Given the description of an element on the screen output the (x, y) to click on. 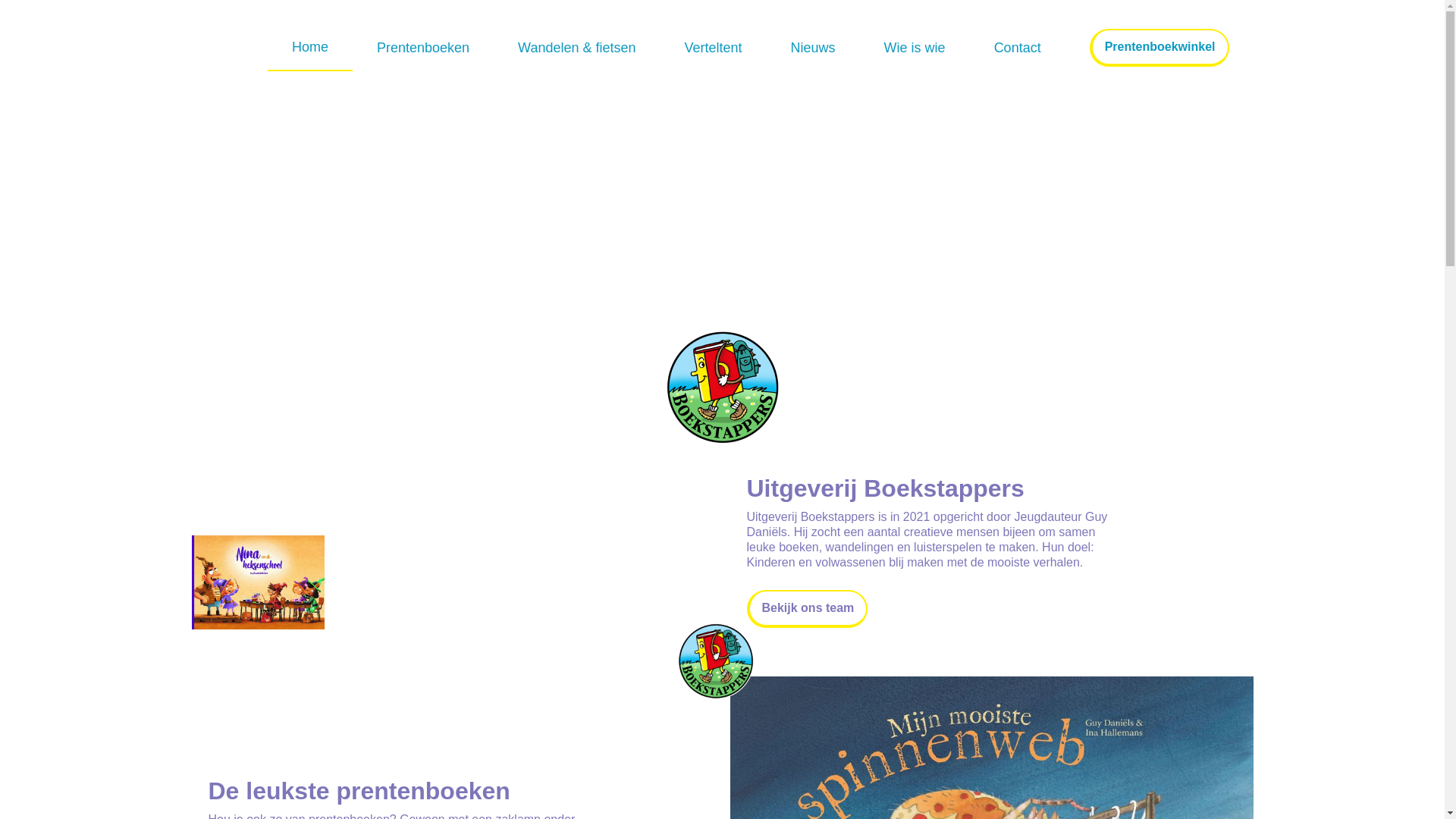
Nieuws Element type: text (812, 47)
Bekijk ons team Element type: text (806, 608)
Prentenboeken Element type: text (422, 47)
Home Element type: text (309, 47)
Contact Element type: text (1017, 47)
Verteltent Element type: text (713, 47)
Wie is wie Element type: text (914, 47)
Prentenboekwinkel Element type: text (1159, 47)
Wandelen & fietsen Element type: text (576, 47)
